Given the description of an element on the screen output the (x, y) to click on. 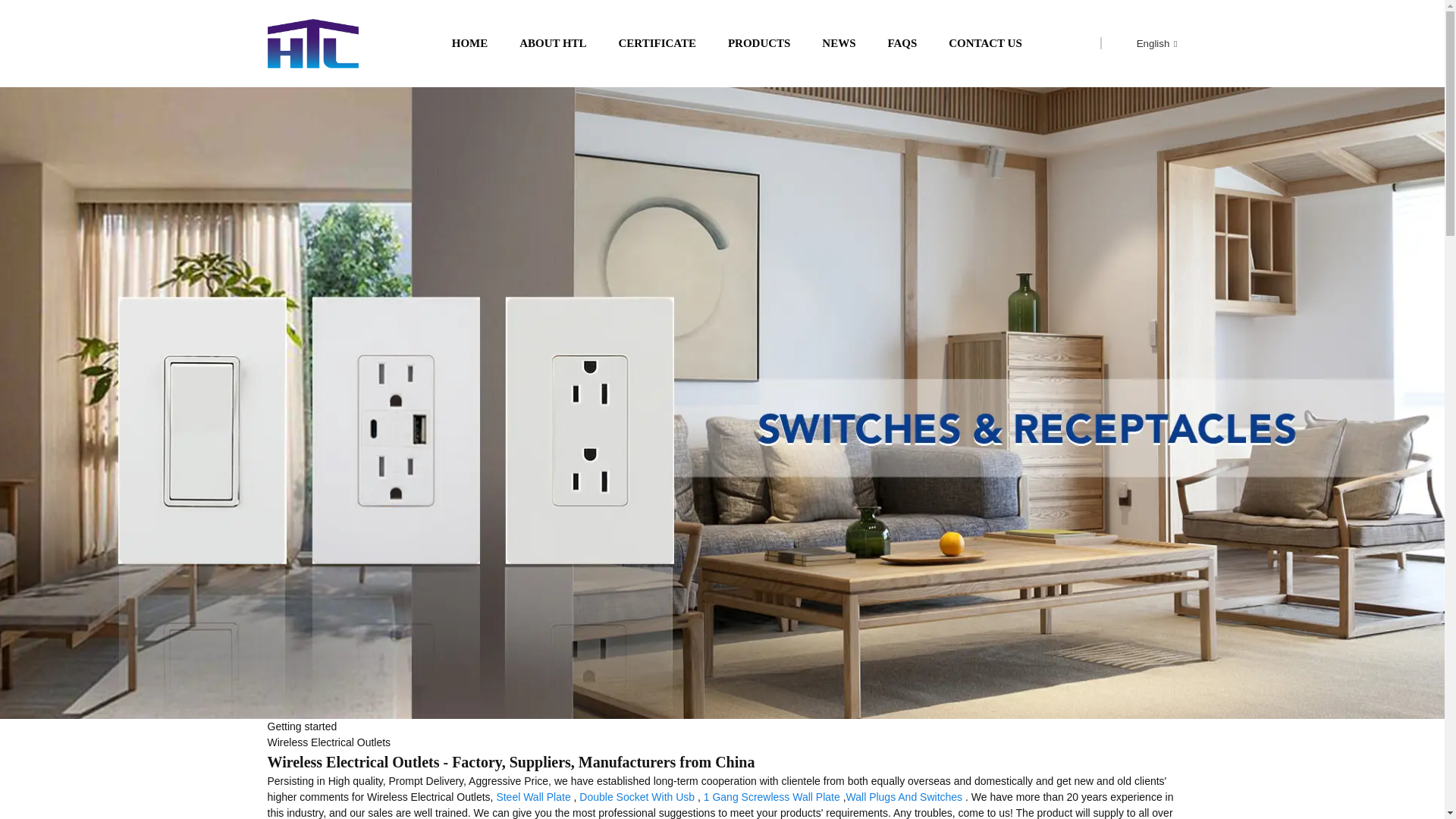
Double Socket With Usb (636, 797)
HOME (469, 43)
PRODUCTS (759, 43)
English (1144, 43)
Steel Wall Plate (533, 797)
1 Gang Screwless Wall Plate (771, 797)
ABOUT HTL (552, 43)
Getting started (301, 726)
FAQS (901, 43)
Steel Wall Plate (533, 797)
CONTACT US (985, 43)
CERTIFICATE (657, 43)
NEWS (839, 43)
Wireless Electrical Outlets (328, 742)
Wall Plugs And Switches (903, 797)
